Given the description of an element on the screen output the (x, y) to click on. 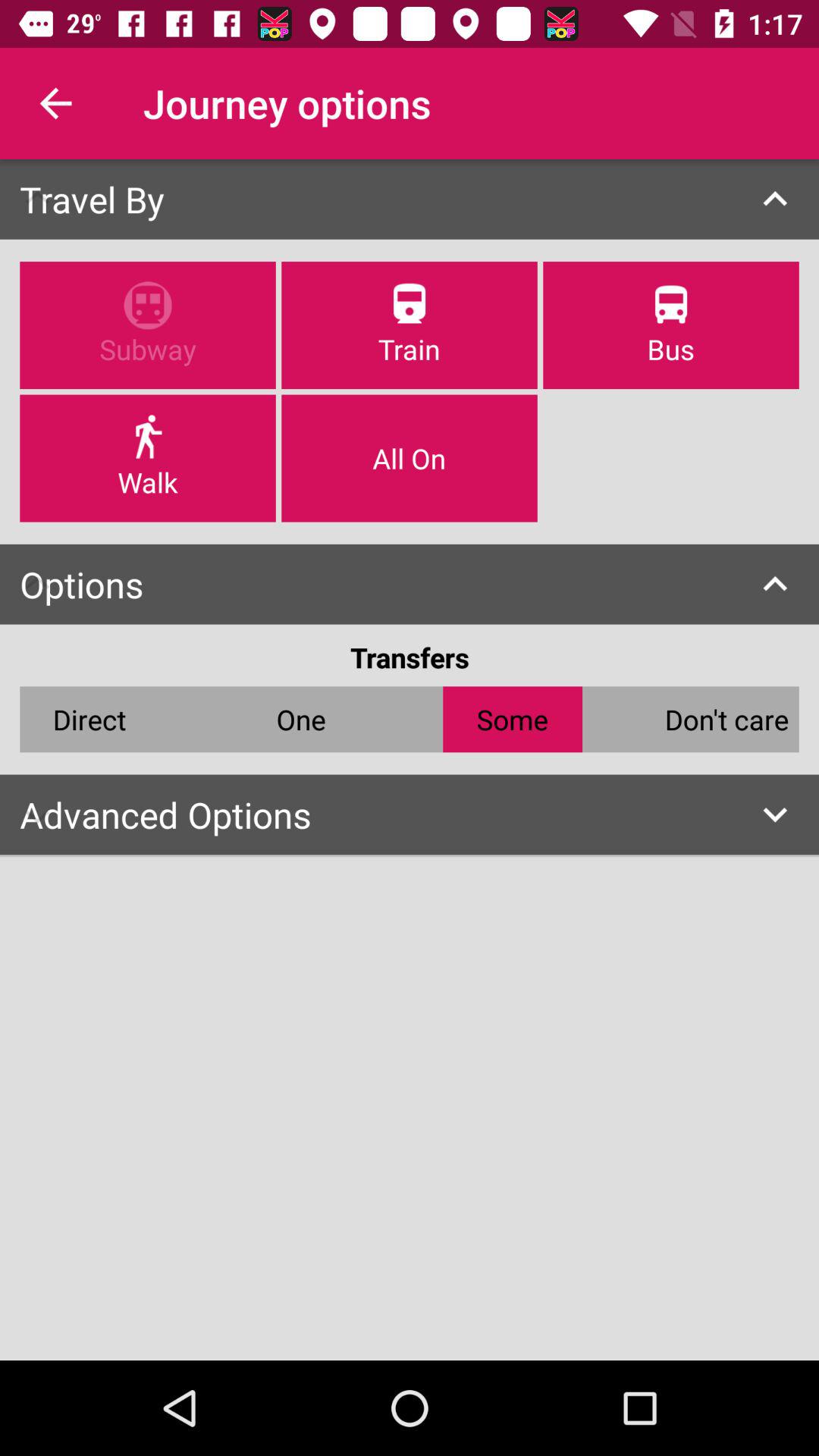
turn off the icon below the transfers (300, 719)
